Given the description of an element on the screen output the (x, y) to click on. 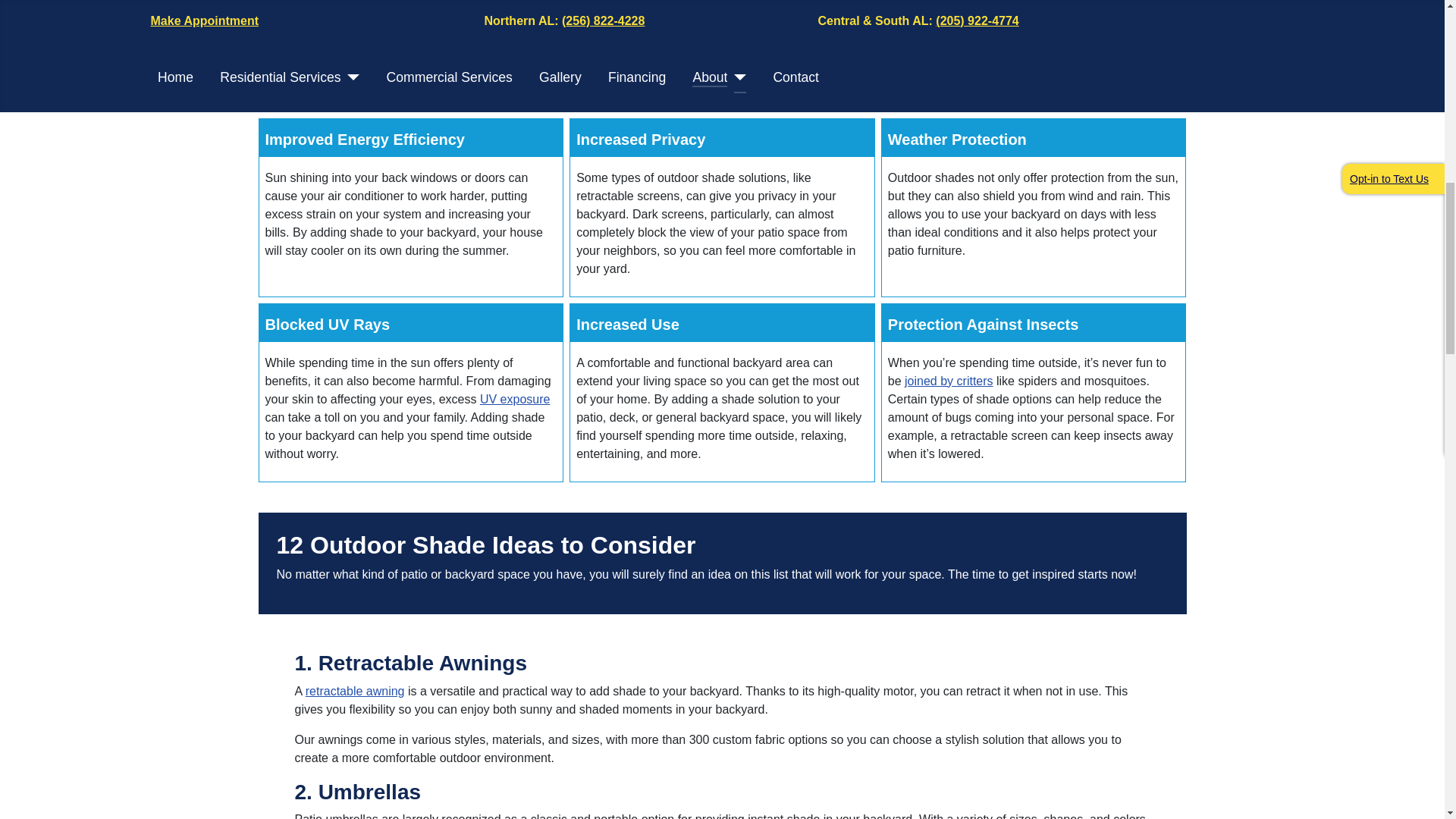
UV exposure (515, 399)
joined by critters (948, 380)
retractable awning (354, 690)
